Given the description of an element on the screen output the (x, y) to click on. 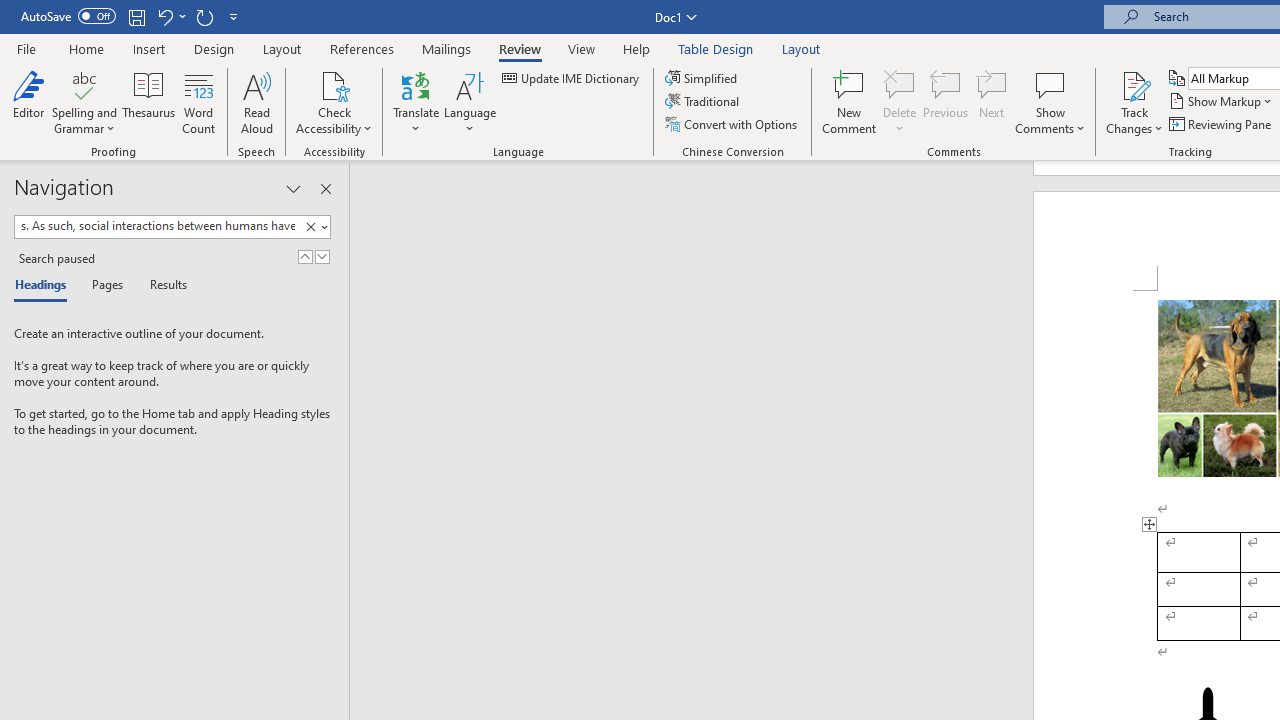
Convert with Options... (732, 124)
Simplified (702, 78)
Next (991, 102)
Show Markup (1222, 101)
Spelling and Grammar (84, 102)
